Given the description of an element on the screen output the (x, y) to click on. 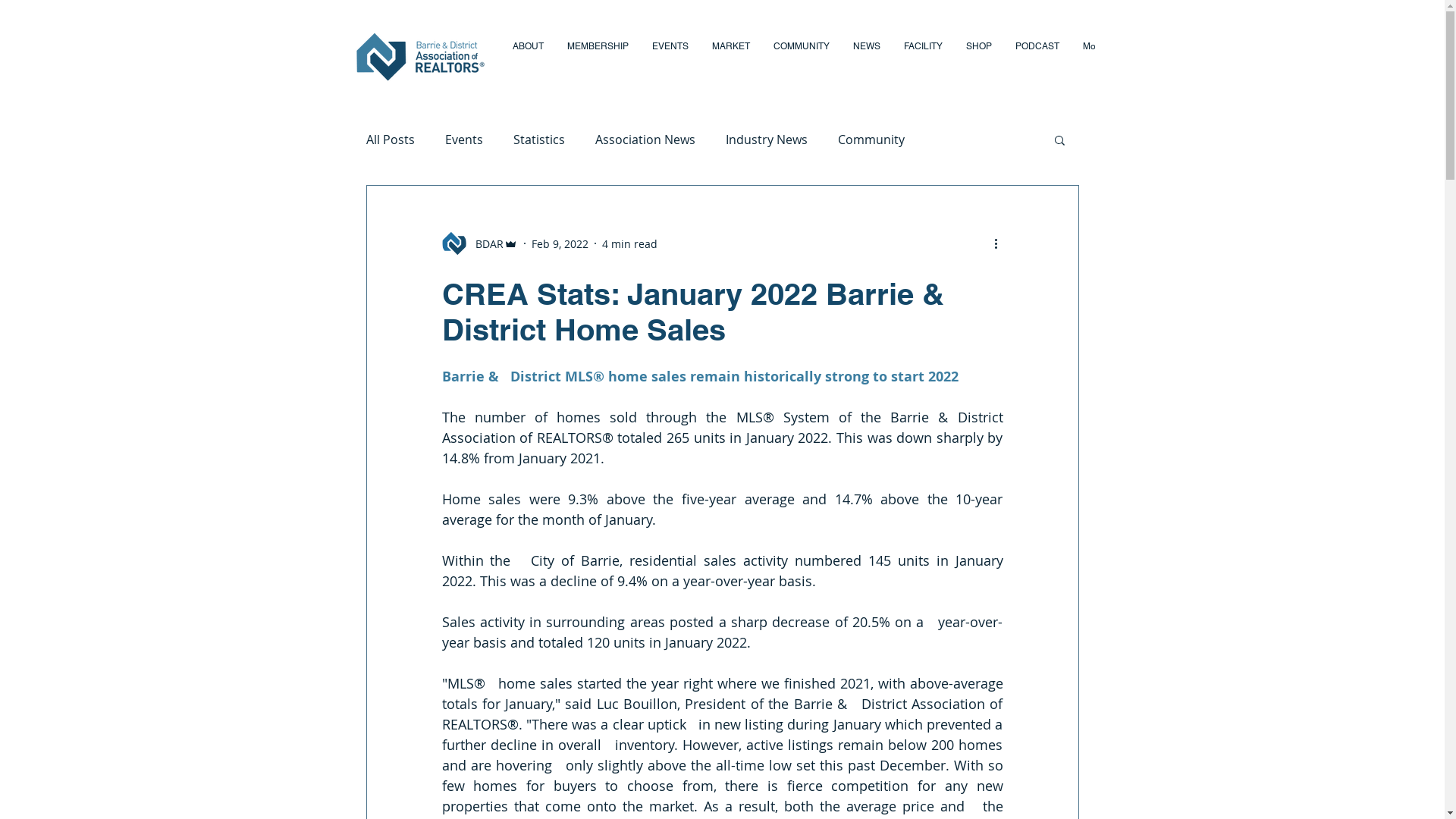
EVENTS Element type: text (669, 59)
MEMBERSHIP Element type: text (597, 59)
FACILITY Element type: text (922, 59)
Events Element type: text (463, 139)
NEWS Element type: text (865, 59)
Association News Element type: text (644, 139)
SHOP Element type: text (978, 59)
Industry News Element type: text (765, 139)
All Posts Element type: text (389, 139)
PODCAST Element type: text (1036, 59)
MARKET Element type: text (729, 59)
ABOUT Element type: text (527, 59)
COMMUNITY Element type: text (800, 59)
Community Element type: text (870, 139)
Statistics Element type: text (538, 139)
